Given the description of an element on the screen output the (x, y) to click on. 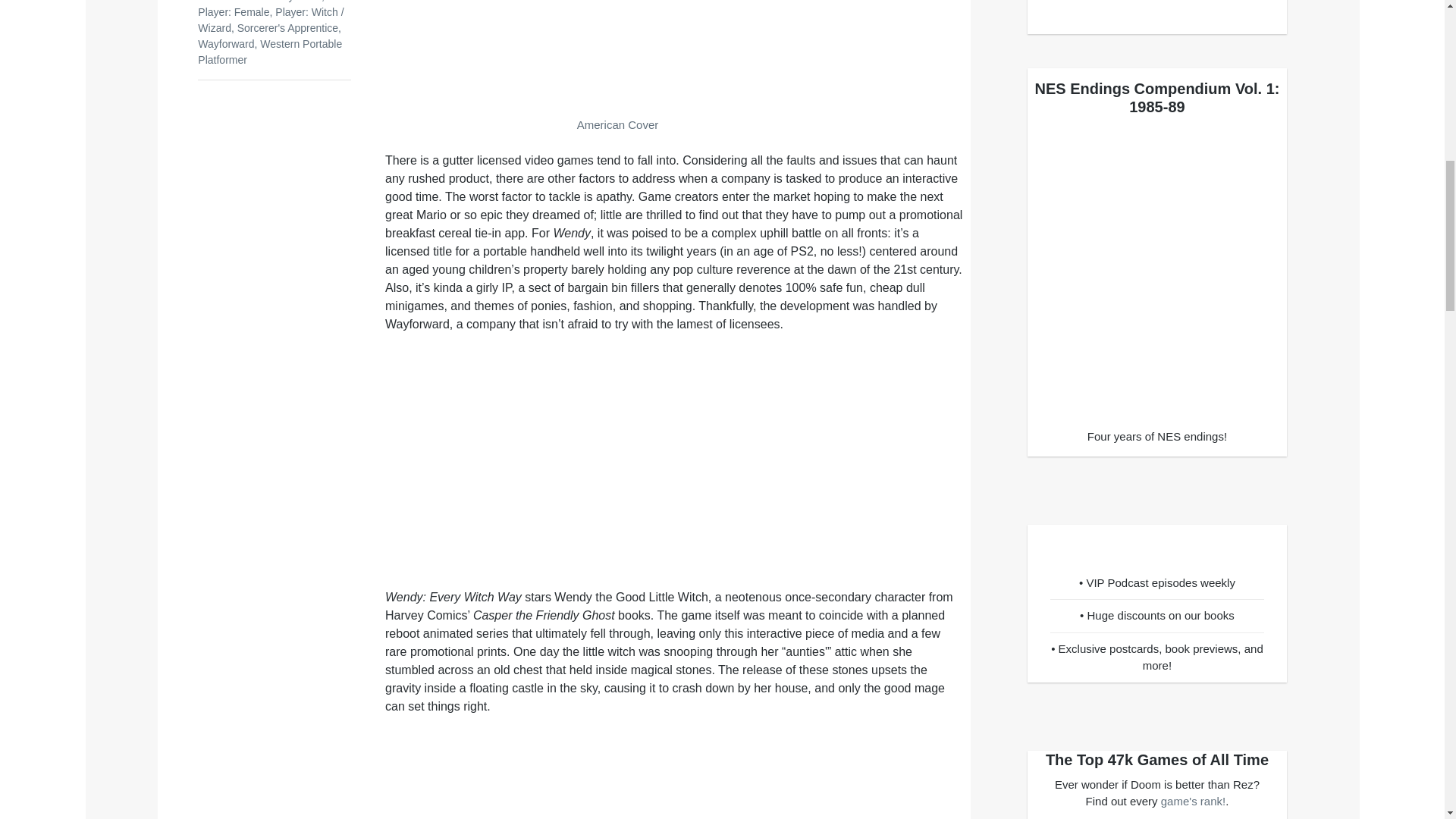
Western Portable Platformer (270, 51)
Sorcerer's Apprentice (287, 28)
Player: Female (233, 11)
Wayforward (225, 43)
Nintendo Game Boy Color (259, 1)
